Given the description of an element on the screen output the (x, y) to click on. 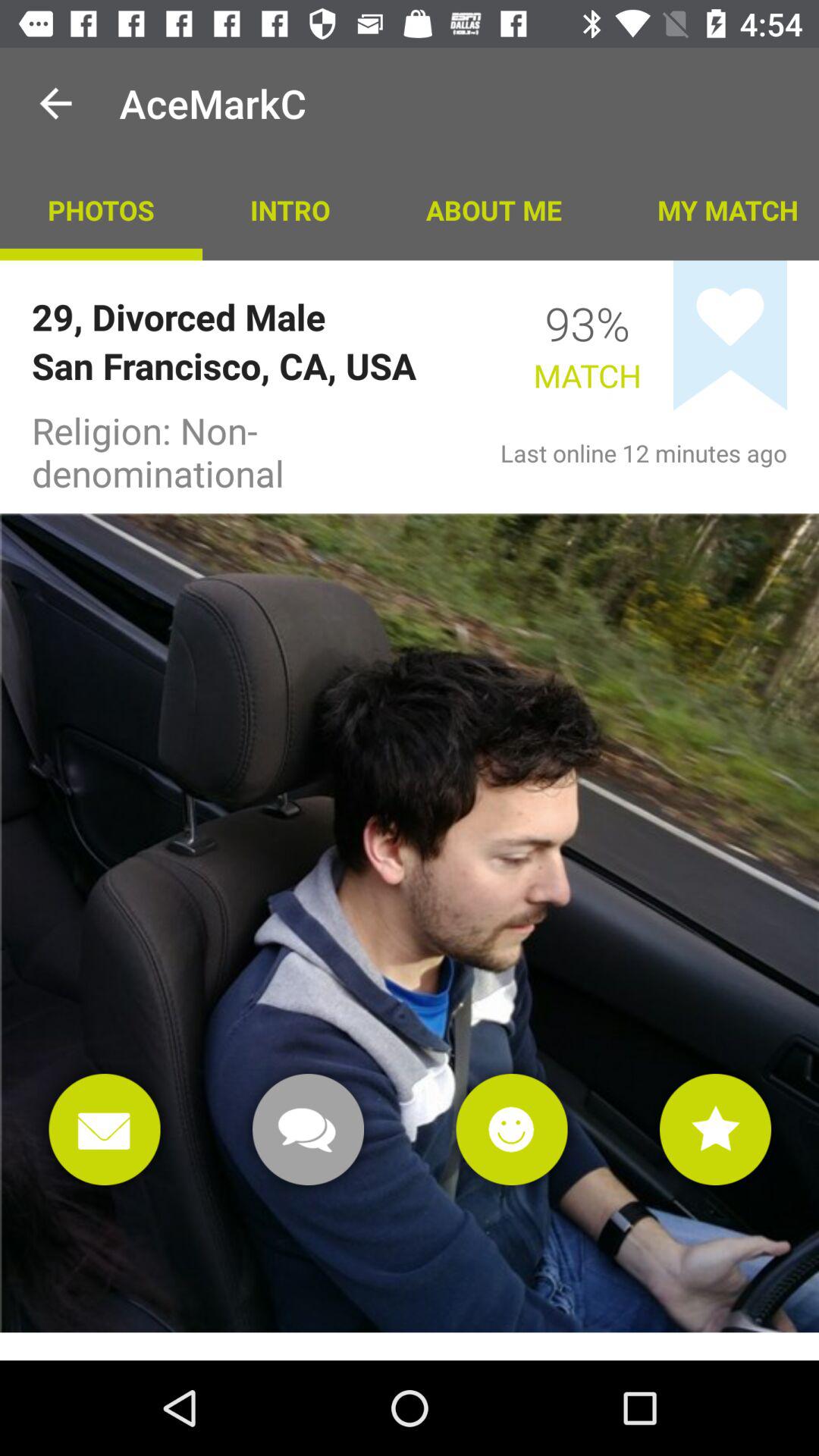
enter chat (307, 1129)
